Given the description of an element on the screen output the (x, y) to click on. 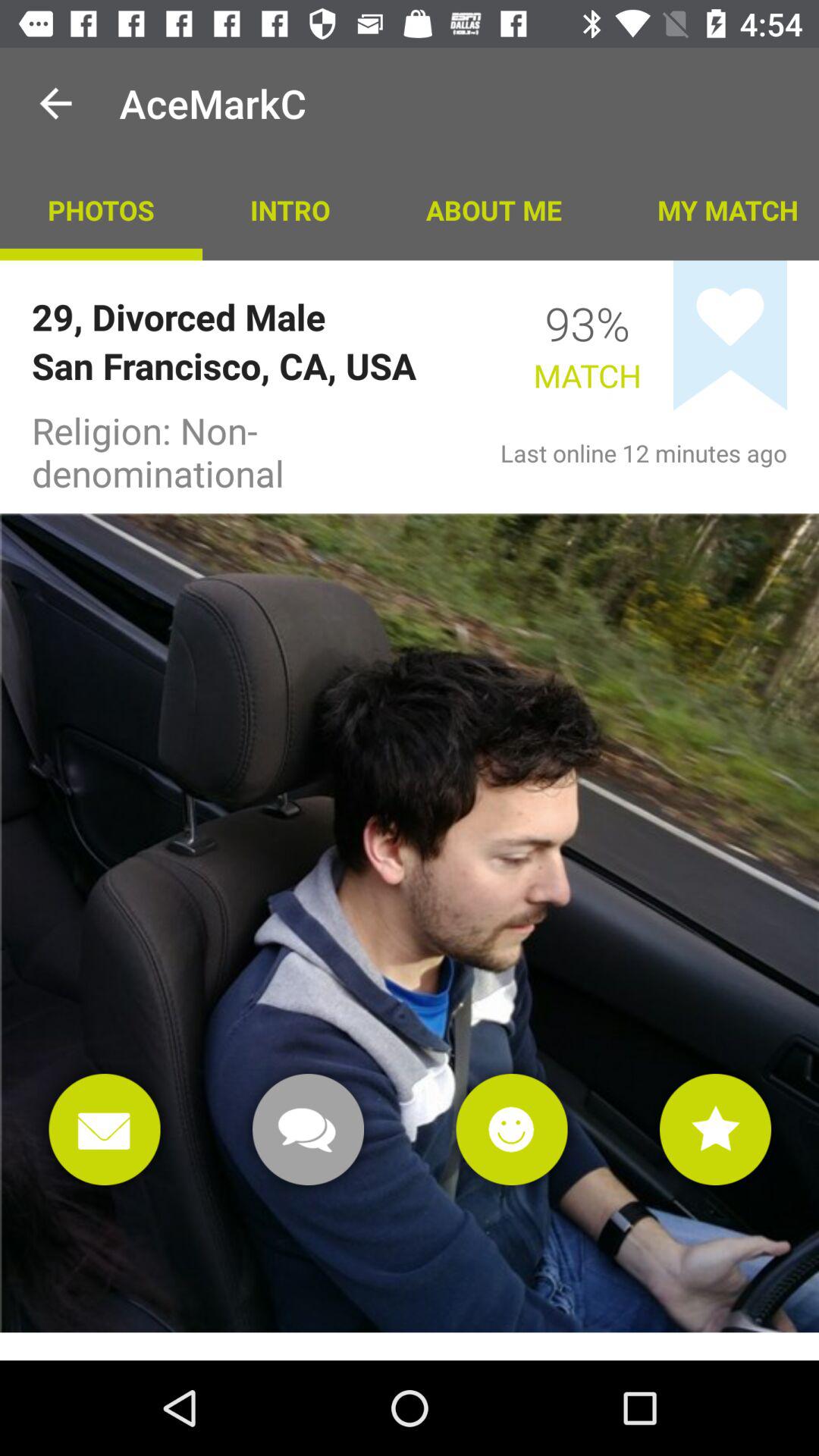
enter chat (307, 1129)
